Given the description of an element on the screen output the (x, y) to click on. 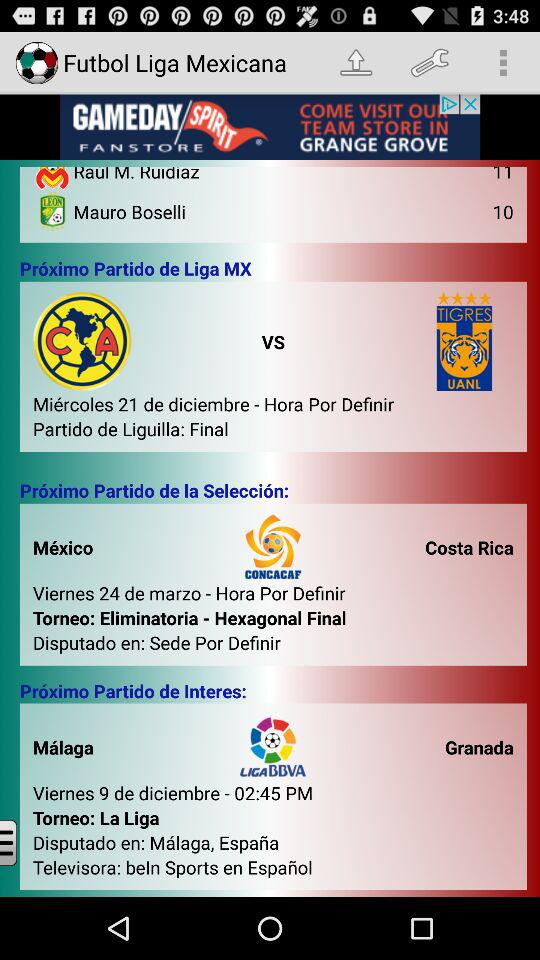
open sidebar (24, 842)
